Given the description of an element on the screen output the (x, y) to click on. 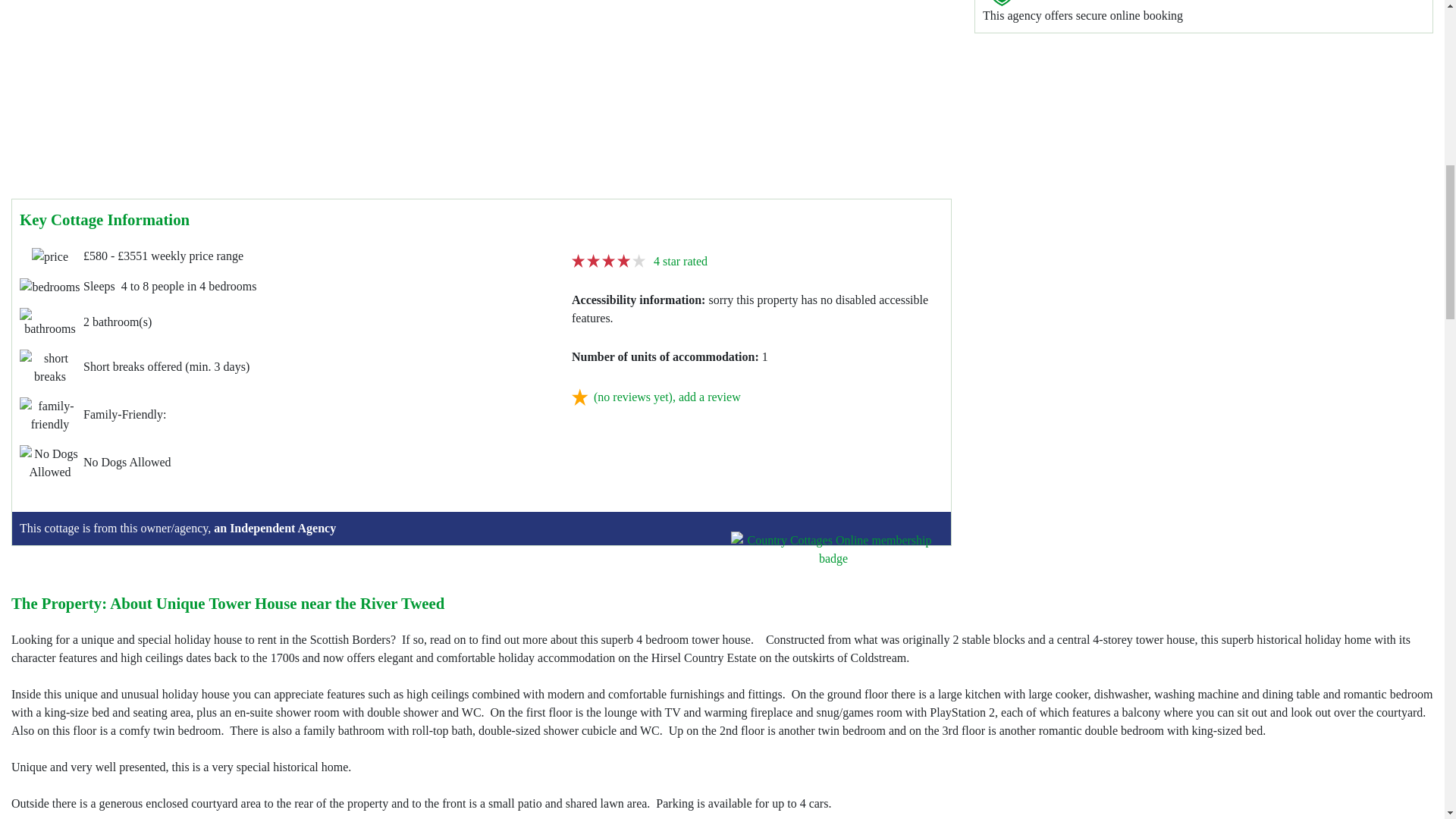
Unique Tower House near the River Tweed - thumbnail photo 6 (60, 1)
